Given the description of an element on the screen output the (x, y) to click on. 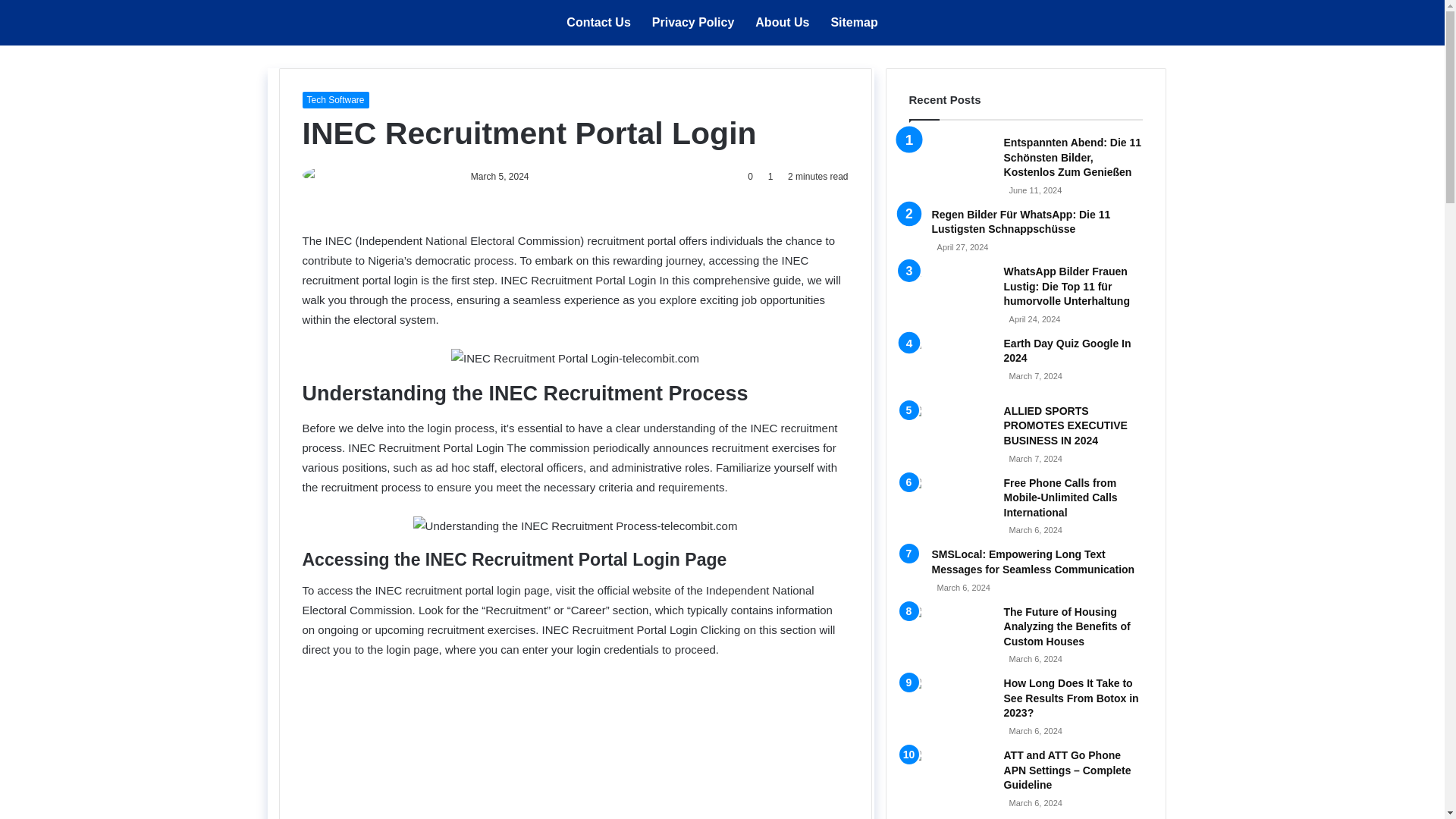
Privacy Policy (693, 22)
Tech Software (334, 99)
Sitemap (853, 22)
Alex Nilson (424, 176)
About Us (781, 22)
Contact Us (598, 22)
Alex Nilson (424, 176)
